Given the description of an element on the screen output the (x, y) to click on. 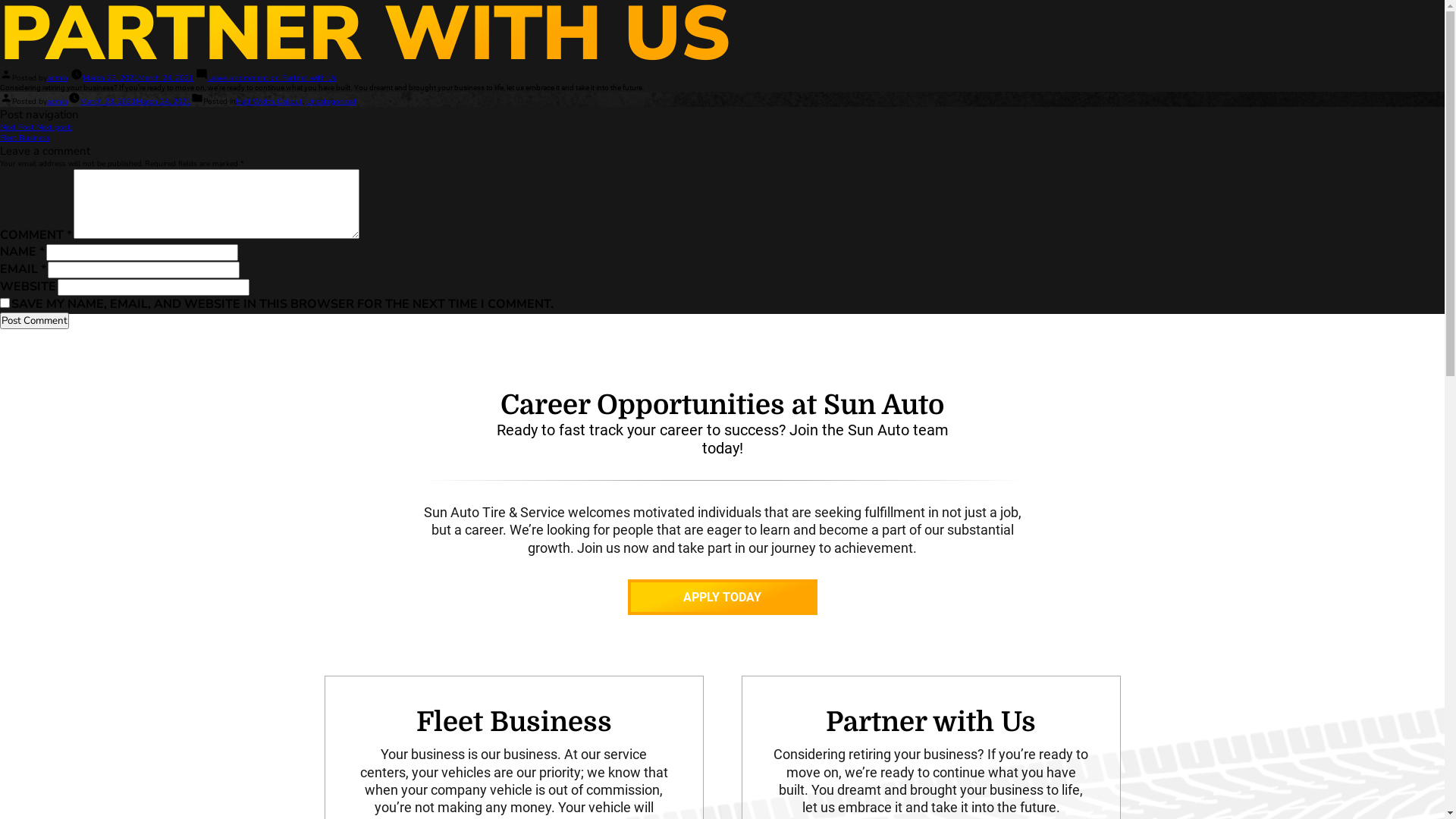
Post Comment Element type: text (34, 320)
March 23, 2021March 24, 2021 Element type: text (137, 77)
Half Width Callout Element type: text (268, 101)
APPLY TODAY Element type: text (722, 597)
Uncategorized Element type: text (331, 101)
March 23, 2021March 24, 2021 Element type: text (135, 101)
admin Element type: text (57, 77)
admin Element type: text (57, 101)
Leave a comment on Partner with Us Element type: text (271, 77)
Next Post Next post:
Fleet Business Element type: text (36, 132)
